Given the description of an element on the screen output the (x, y) to click on. 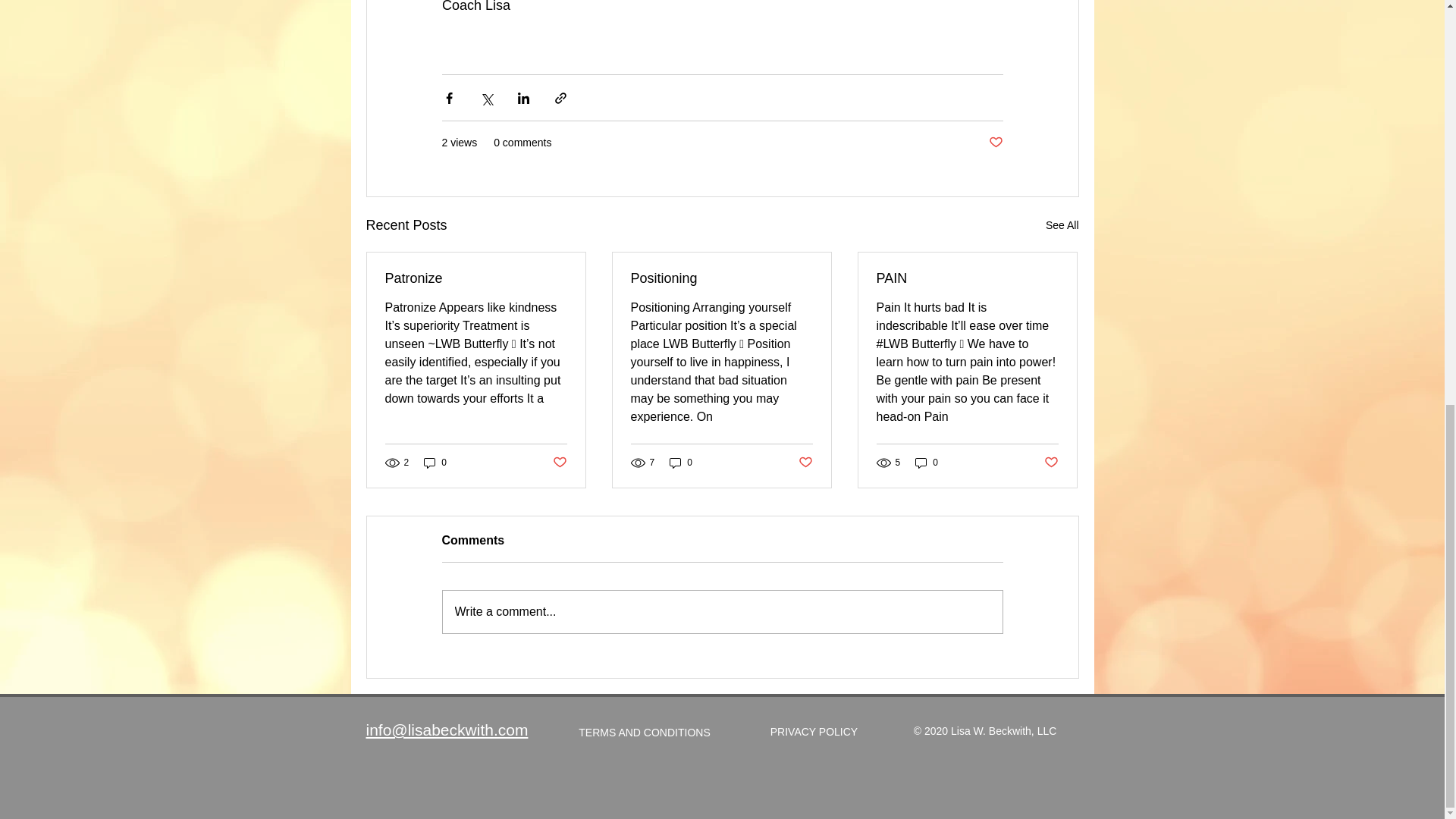
0 (681, 462)
Post not marked as liked (558, 462)
Post not marked as liked (995, 142)
PAIN (967, 278)
Post not marked as liked (804, 462)
See All (1061, 225)
TERMS AND CONDITIONS (644, 732)
Patronize (476, 278)
PRIVACY POLICY (813, 732)
Positioning (721, 278)
Post not marked as liked (1050, 462)
Write a comment... (722, 611)
0 (435, 462)
0 (926, 462)
